Given the description of an element on the screen output the (x, y) to click on. 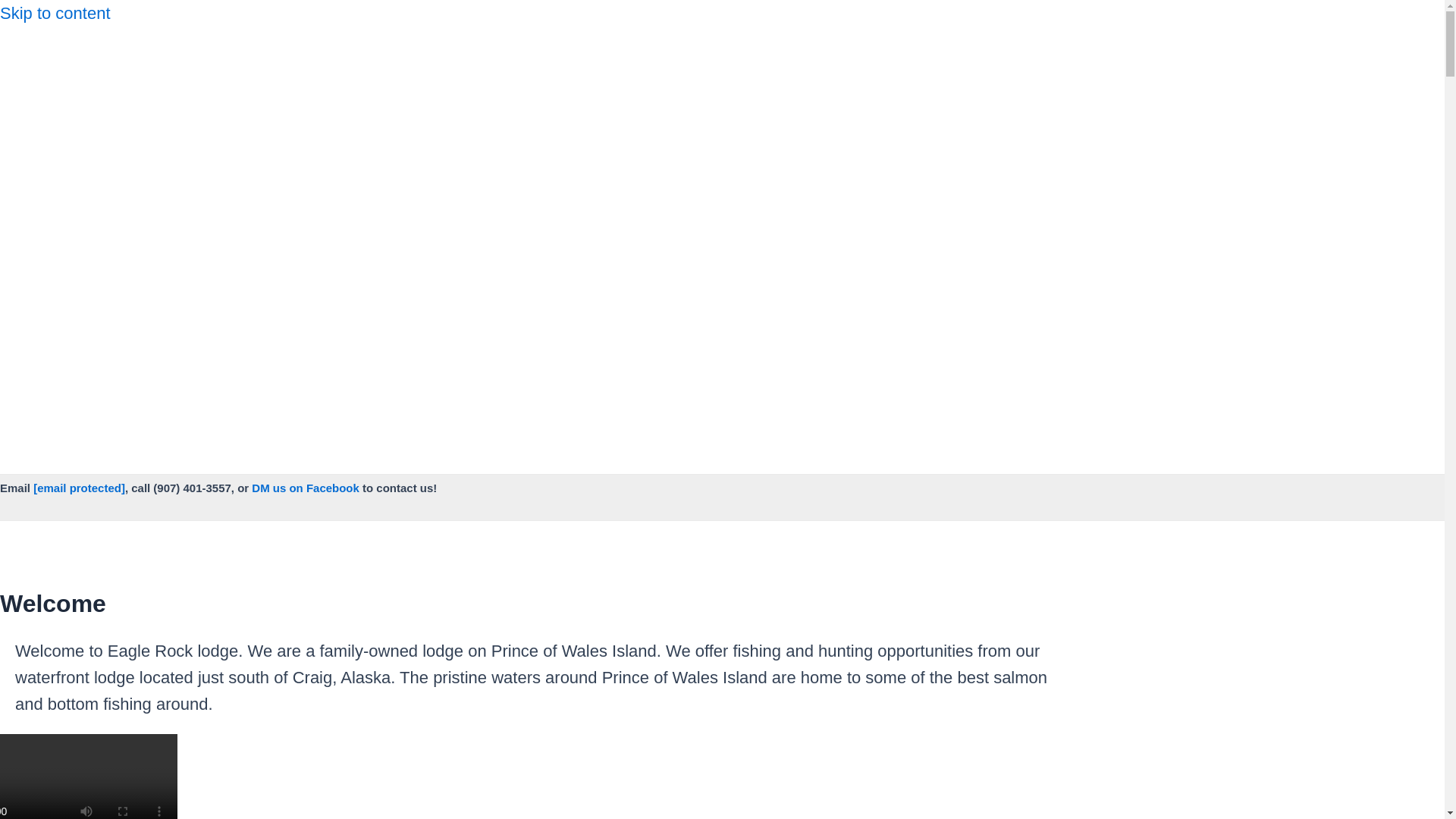
DM us on Facebook (305, 487)
Skip to content (55, 13)
Facebook (61, 53)
Skip to content (55, 13)
